Given the description of an element on the screen output the (x, y) to click on. 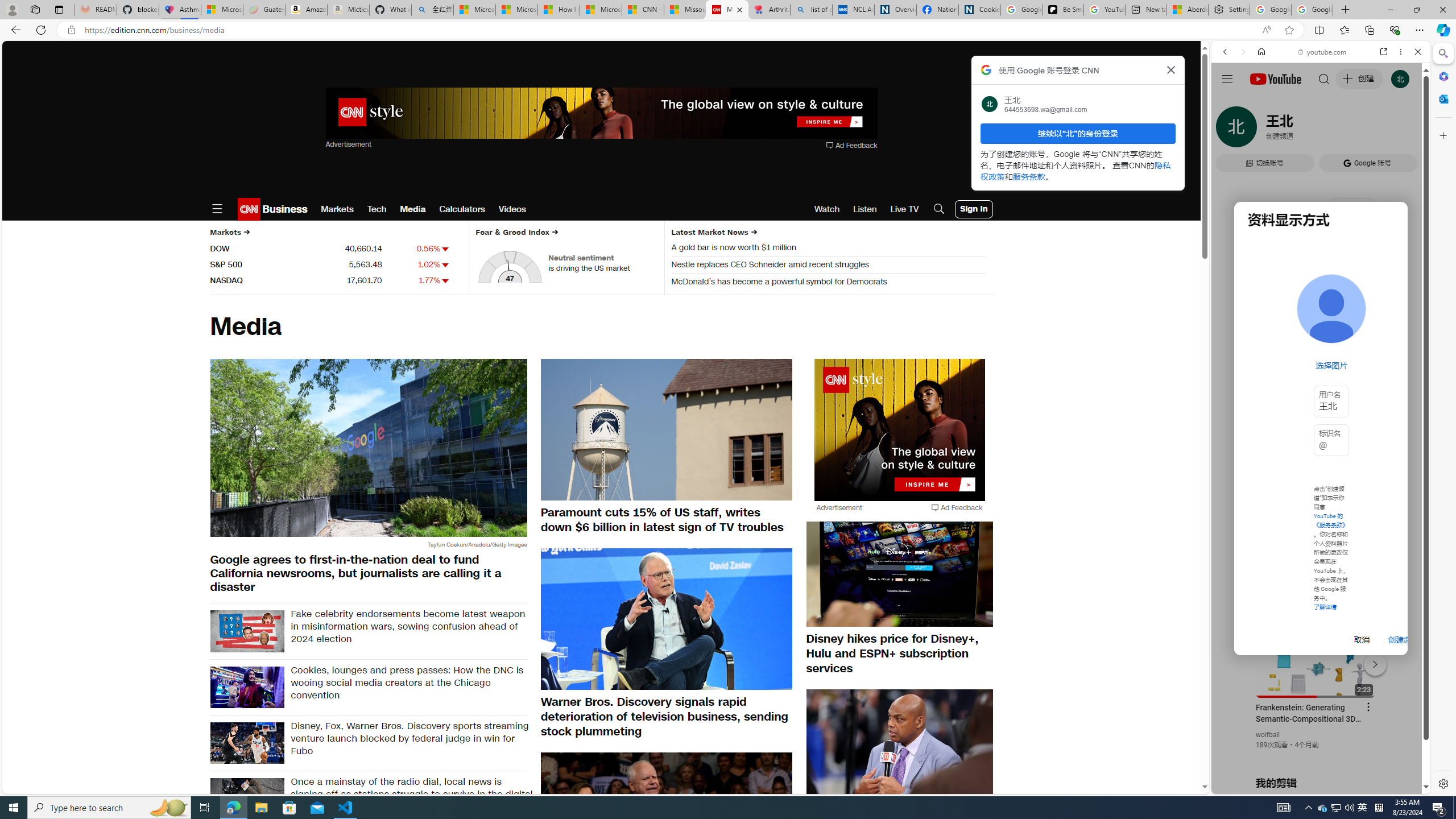
Watch (826, 208)
Close Customize pane (1442, 135)
Actions for this site (1371, 661)
AutomationID: aw0 (899, 430)
Markets (336, 209)
